Given the description of an element on the screen output the (x, y) to click on. 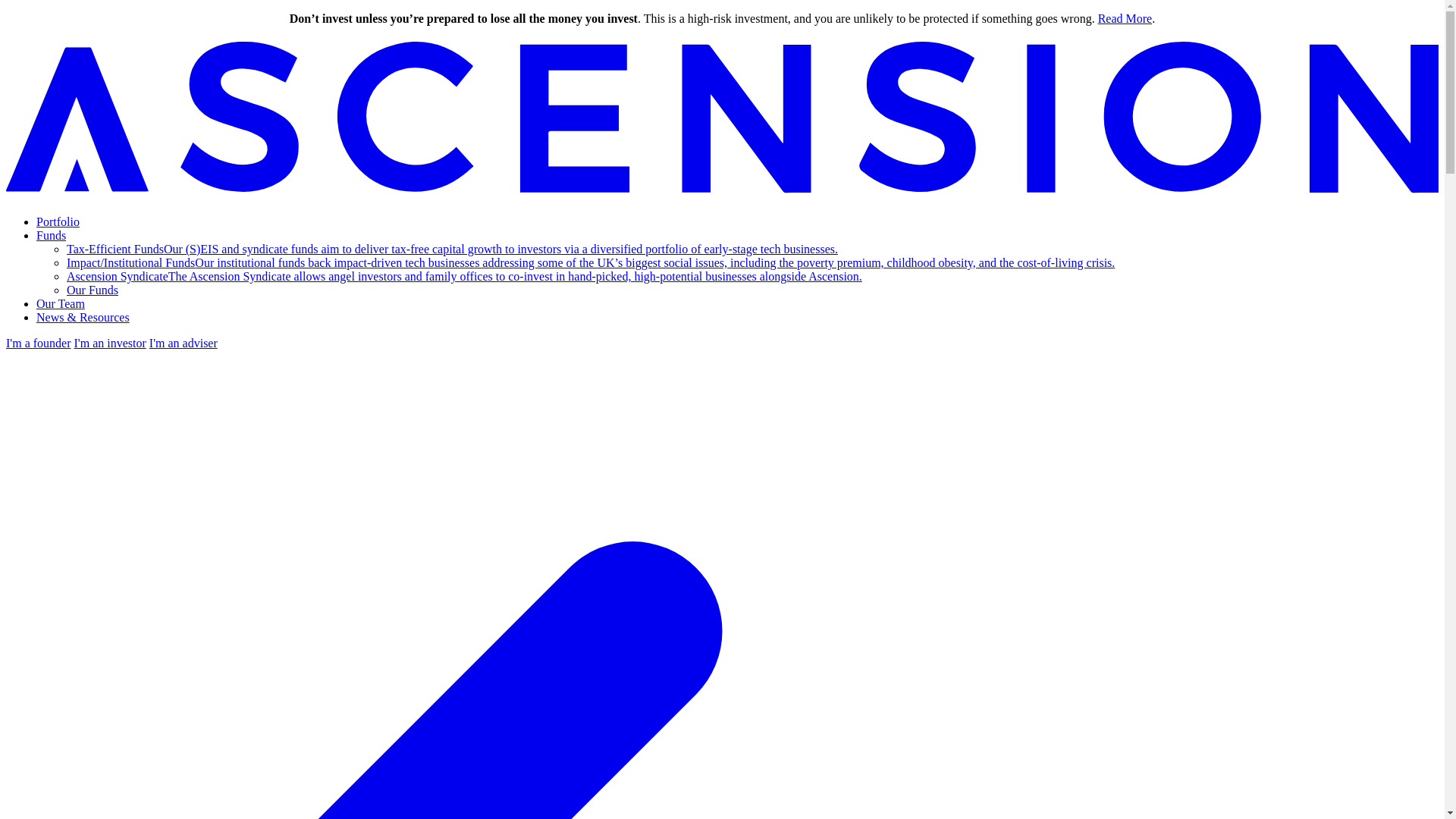
Funds (50, 235)
Read More (1125, 18)
I'm an investor (110, 342)
I'm an investor (110, 342)
I'm a founder (38, 342)
I'm an adviser (182, 342)
Our Team (60, 303)
Portfolio (58, 221)
Our Funds (91, 289)
I'm a founder (38, 342)
I'm an adviser (182, 342)
